Given the description of an element on the screen output the (x, y) to click on. 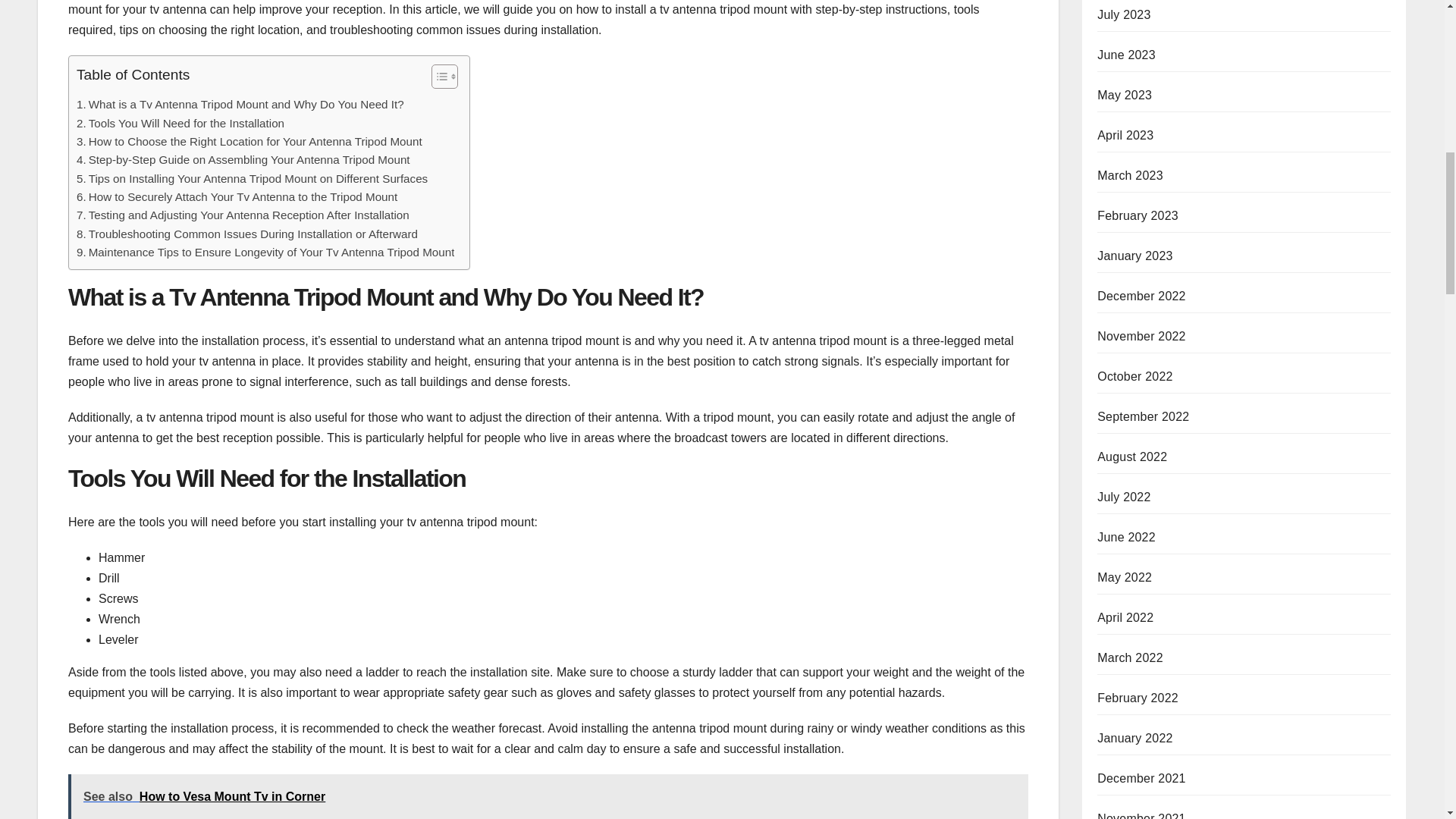
What is a Tv Antenna Tripod Mount and Why Do You Need It? (240, 104)
How to Securely Attach Your Tv Antenna to the Tripod Mount (237, 197)
What is a Tv Antenna Tripod Mount and Why Do You Need It? (240, 104)
Step-by-Step Guide on Assembling Your Antenna Tripod Mount (243, 159)
